Given the description of an element on the screen output the (x, y) to click on. 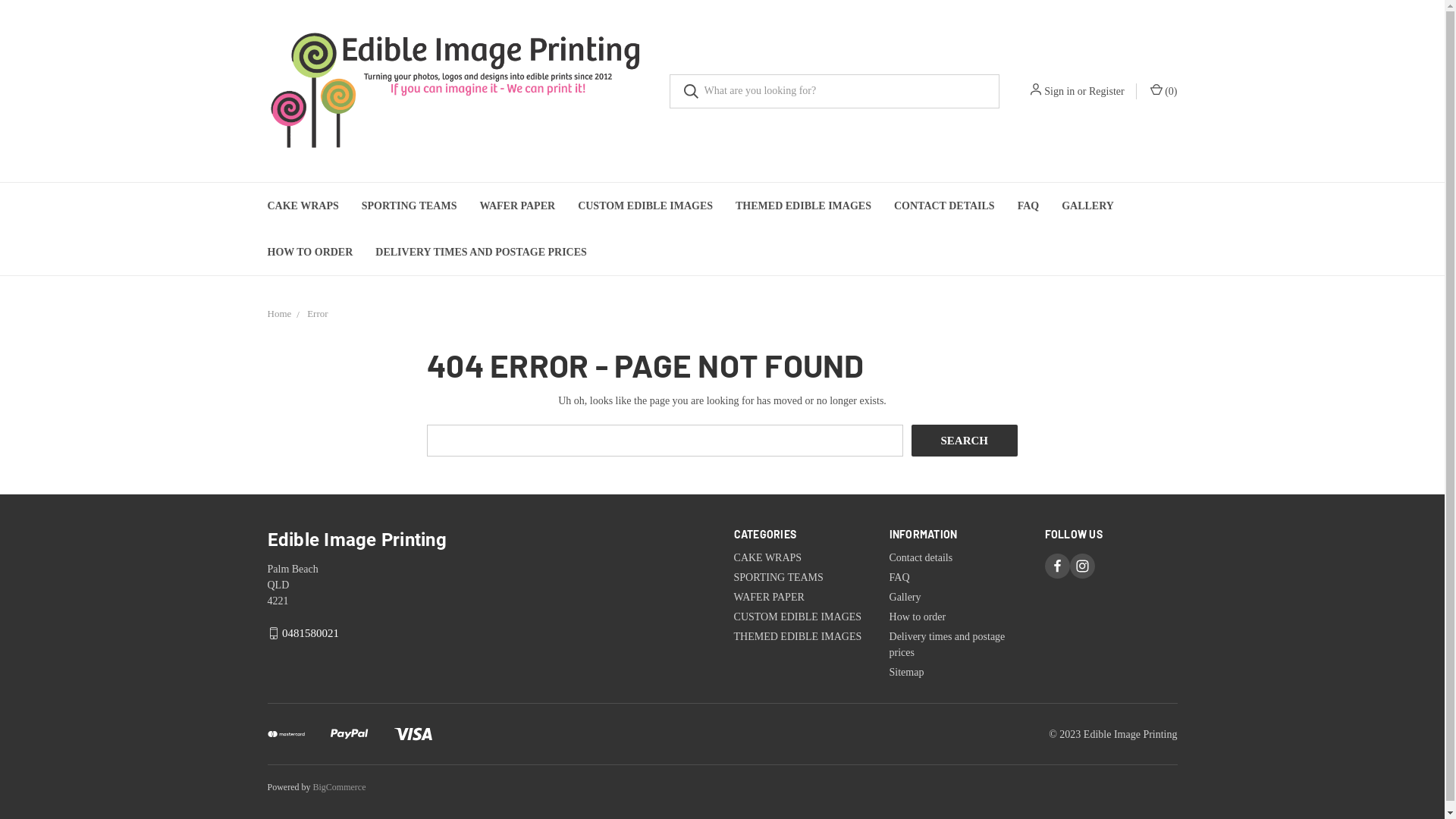
CAKE WRAPS Element type: text (768, 557)
Contact details Element type: text (921, 557)
BigCommerce Element type: text (338, 786)
Register Element type: text (1106, 91)
HOW TO ORDER Element type: text (310, 251)
WAFER PAPER Element type: text (769, 596)
CUSTOM EDIBLE IMAGES Element type: text (645, 205)
Search Element type: text (964, 440)
Sign in Element type: text (1059, 91)
FAQ Element type: text (899, 577)
CAKE WRAPS Element type: text (303, 205)
CUSTOM EDIBLE IMAGES Element type: text (798, 616)
Delivery times and postage prices Element type: text (947, 644)
GALLERY Element type: text (1087, 205)
WAFER PAPER Element type: text (516, 205)
Sitemap Element type: text (906, 671)
SPORTING TEAMS Element type: text (409, 205)
Home Element type: text (278, 313)
Edible Image Printing Element type: hover (456, 91)
Gallery Element type: text (905, 596)
THEMED EDIBLE IMAGES Element type: text (803, 205)
DELIVERY TIMES AND POSTAGE PRICES Element type: text (481, 251)
(0) Element type: text (1162, 91)
0481580021 Element type: text (310, 633)
THEMED EDIBLE IMAGES Element type: text (798, 636)
CONTACT DETAILS Element type: text (944, 205)
SPORTING TEAMS Element type: text (778, 577)
How to order Element type: text (917, 616)
FAQ Element type: text (1028, 205)
